Given the description of an element on the screen output the (x, y) to click on. 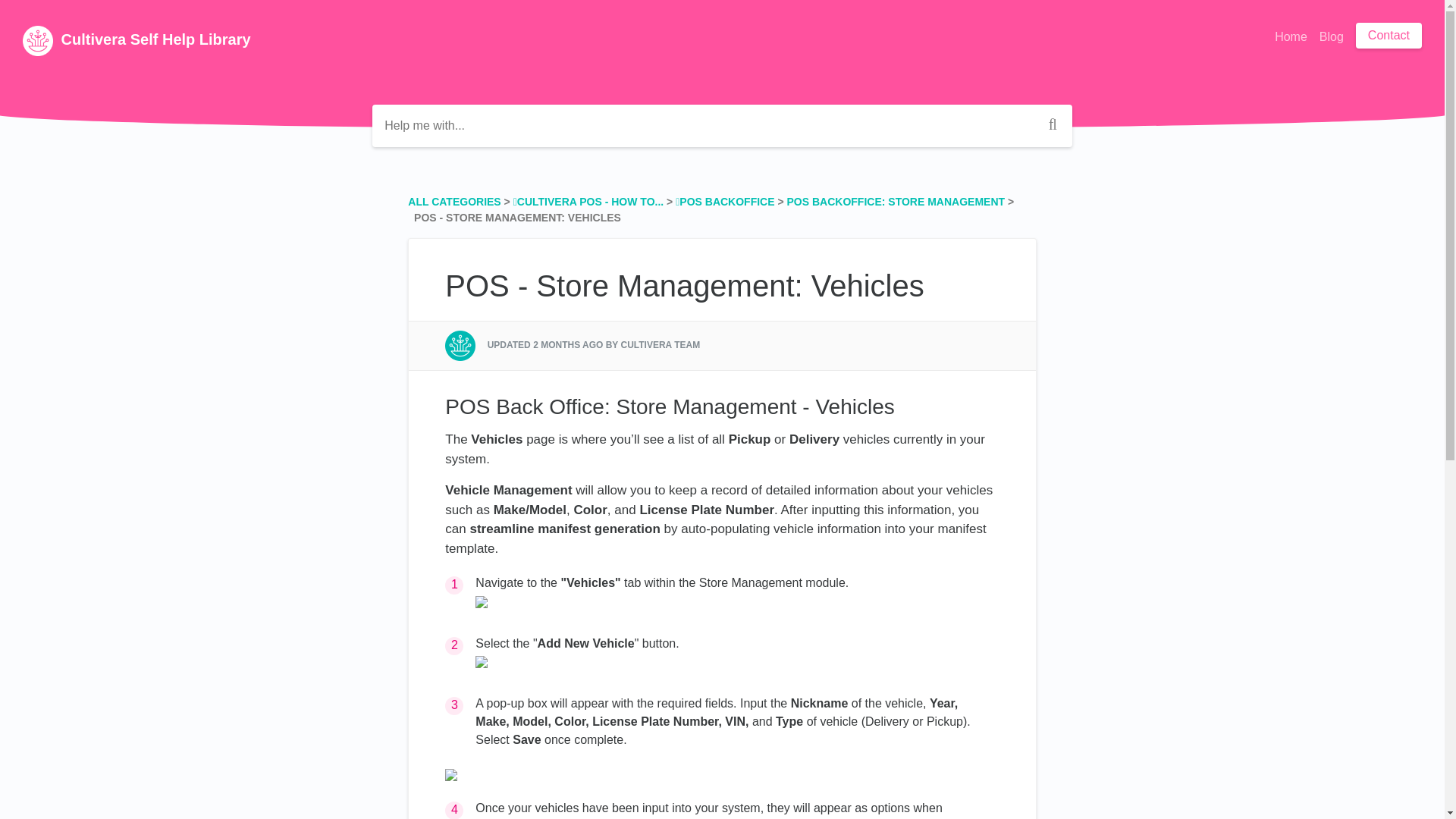
Cultivera Self Help Library (136, 40)
Home (1291, 36)
POS BACKOFFICE (724, 201)
Contact (1388, 35)
POS BACKOFFICE: STORE MANAGEMENT (896, 201)
CULTIVERA POS - HOW TO... (588, 201)
ALL CATEGORIES (453, 201)
